Given the description of an element on the screen output the (x, y) to click on. 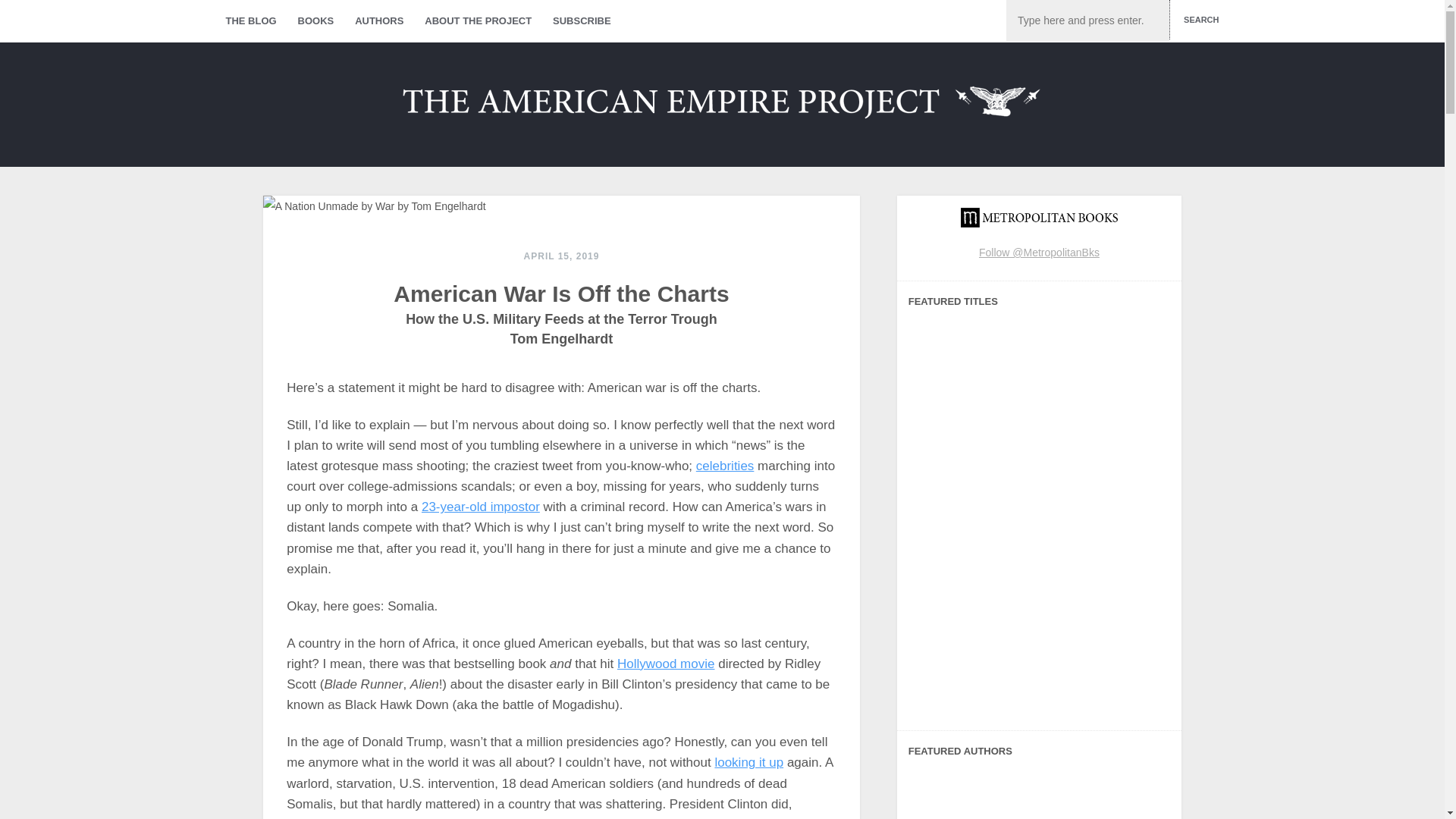
celebrities (724, 465)
Search (1197, 19)
SUBSCRIBE (581, 21)
looking it up (748, 762)
SEARCH (1197, 19)
American War Is Off the Charts (561, 293)
BOOKS (315, 21)
Hollywood movie (665, 663)
ABOUT THE PROJECT (477, 21)
AUTHORS (379, 21)
